Given the description of an element on the screen output the (x, y) to click on. 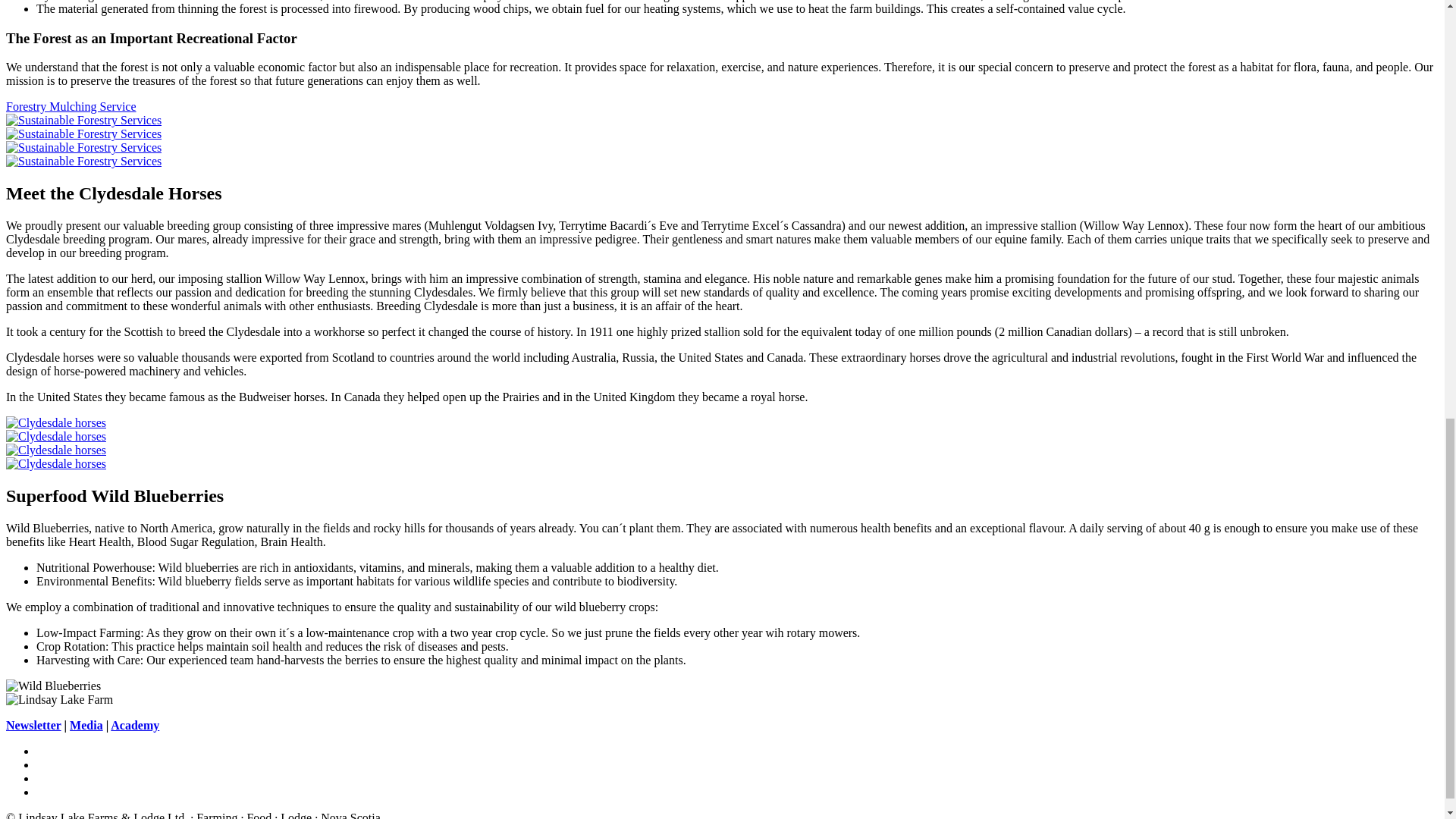
Clydesdale horses (55, 436)
Clydesdale horses (55, 422)
Media (86, 725)
Newsletter (33, 725)
Sustainable Forestry Services (83, 133)
Sustainable Forestry Services (83, 160)
Sustainable Forestry Services (83, 146)
Forestry Mulching Service (70, 106)
Clydesdale horses (55, 449)
Clydesdale horses (55, 463)
